Given the description of an element on the screen output the (x, y) to click on. 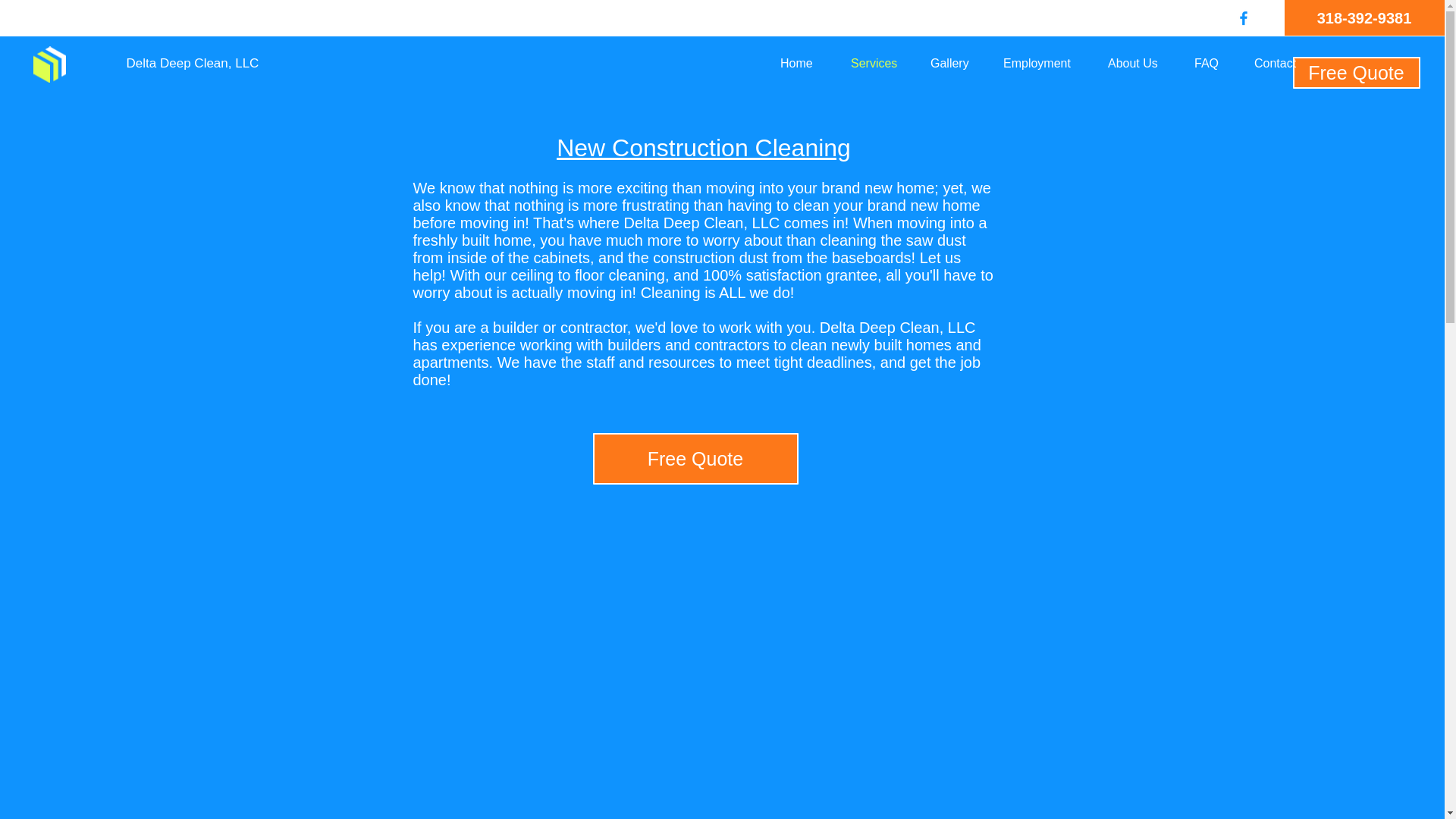
Home (804, 63)
About Us (1139, 63)
Free Quote (1355, 72)
Services (879, 63)
Delta Deep Clean, LLC (192, 63)
FAQ (1212, 63)
Gallery (954, 63)
Free Quote (694, 458)
Delta Deep Clean LLC (49, 63)
Contact (1281, 63)
Employment (1043, 63)
